Given the description of an element on the screen output the (x, y) to click on. 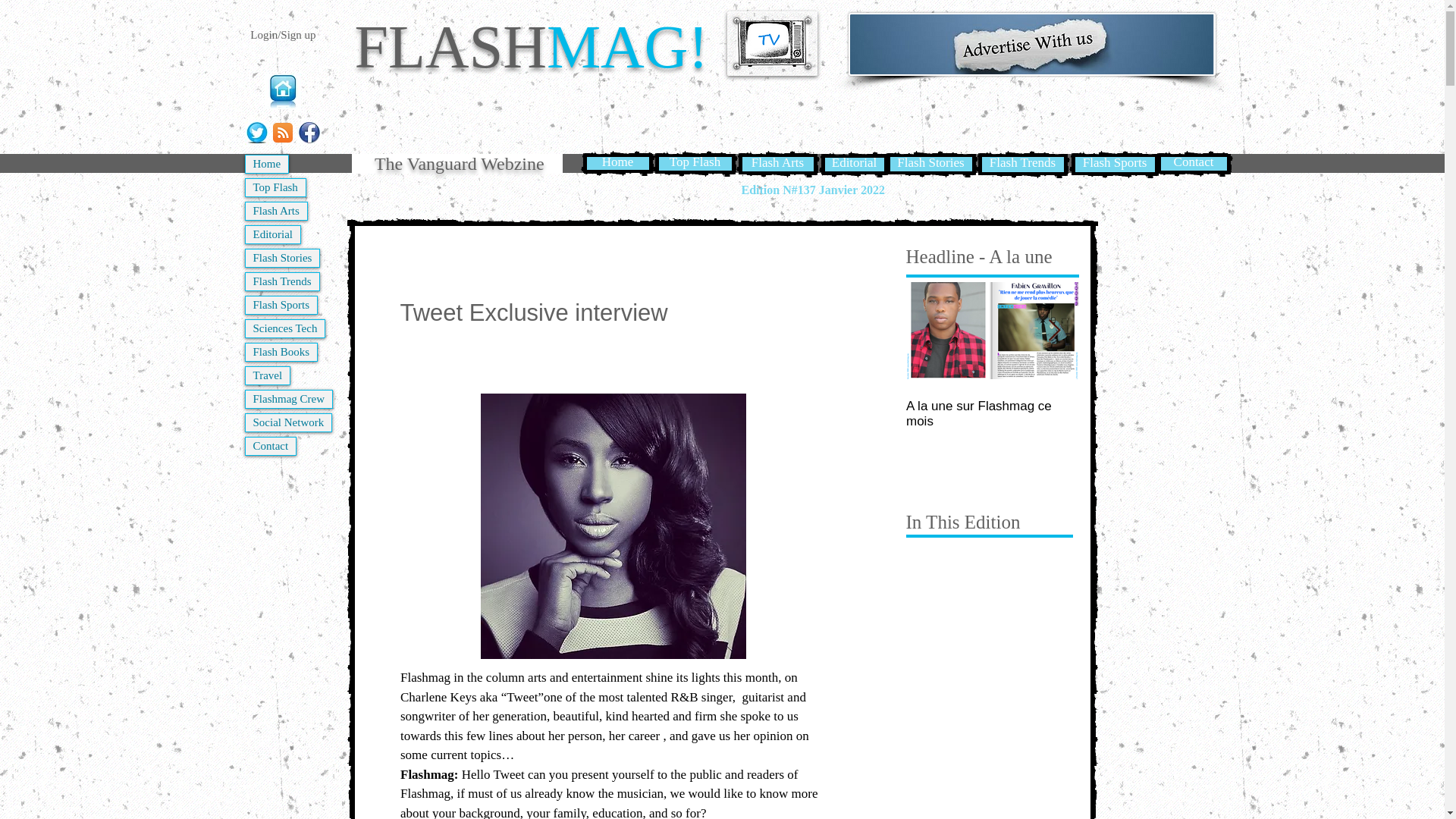
A la une sur Flashmag ce mois (991, 413)
Flashmag Tv (771, 43)
RSS Feed (282, 132)
facebook-social-network.jpg (309, 132)
twitter-social-network.jpg (255, 132)
